Given the description of an element on the screen output the (x, y) to click on. 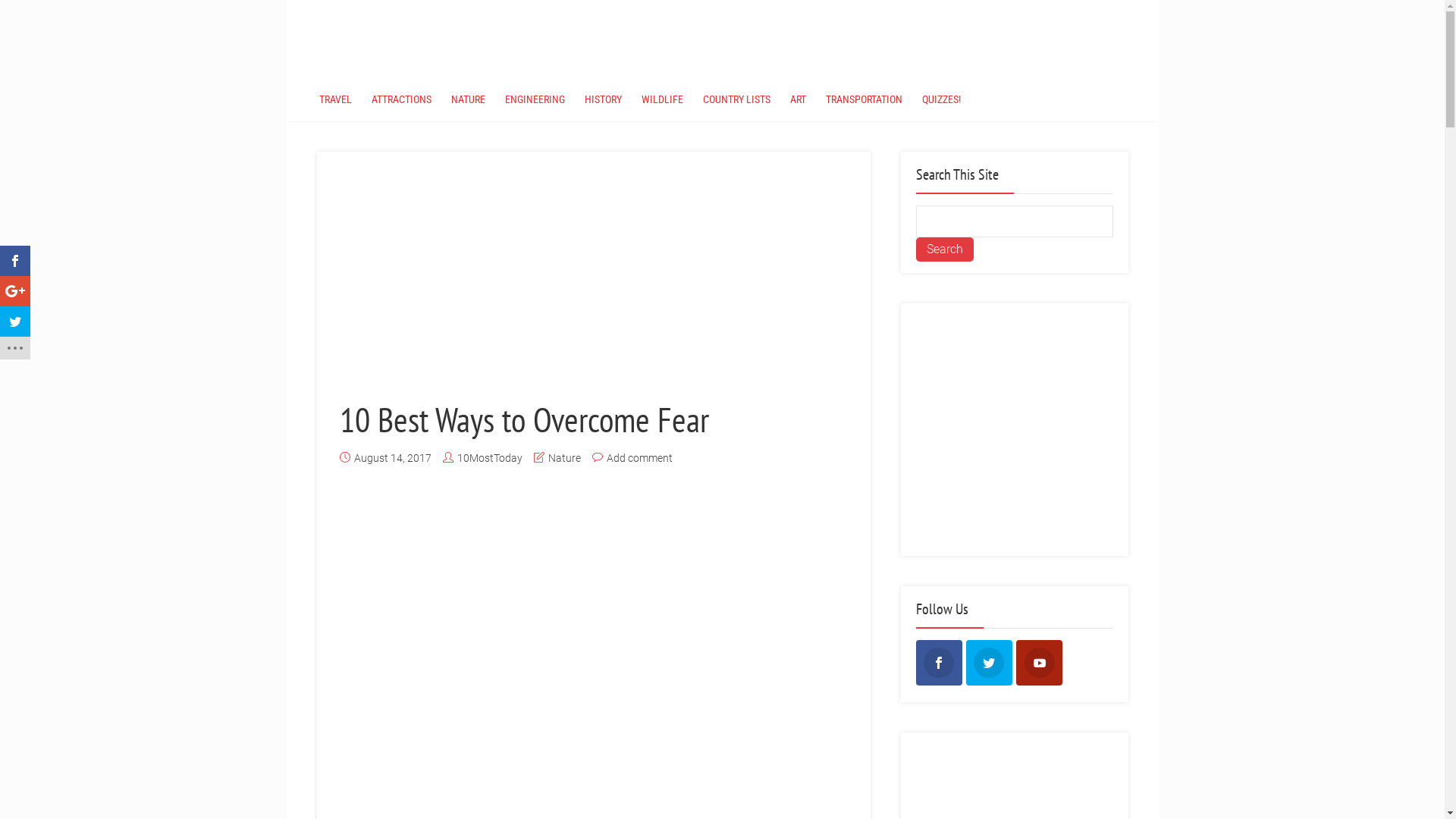
ATTRACTIONS Element type: text (400, 99)
NATURE Element type: text (467, 99)
WILDLIFE Element type: text (661, 99)
Search Element type: text (944, 249)
10MostToday Element type: text (488, 457)
QUIZZES! Element type: text (940, 99)
TRAVEL Element type: text (335, 99)
COUNTRY LISTS Element type: text (736, 99)
Add comment Element type: text (639, 457)
ART Element type: text (797, 99)
10 Most Today Element type: hover (316, 23)
HISTORY Element type: text (603, 99)
TRANSPORTATION Element type: text (863, 99)
ENGINEERING Element type: text (534, 99)
Nature Element type: text (563, 457)
